Given the description of an element on the screen output the (x, y) to click on. 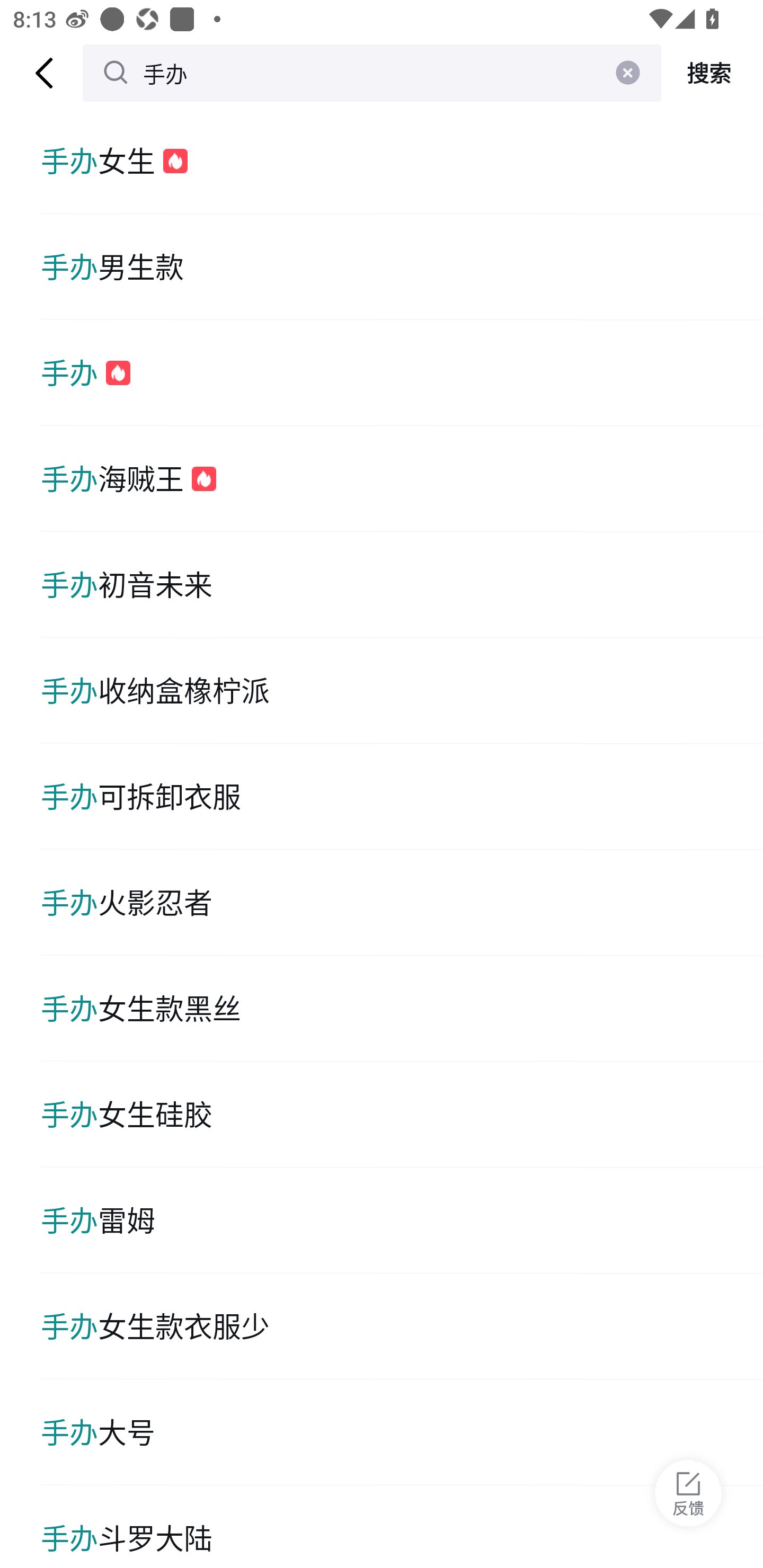
搜索 (712, 72)
手办 (371, 72)
手办女生 (401, 160)
手办男生款 (401, 266)
手办 (401, 372)
手办海贼王 (401, 478)
手办初音未来 (401, 584)
手办收纳盒橡柠派 (401, 690)
手办可拆卸衣服 (401, 796)
手办火影忍者 (401, 901)
手办女生款黑丝 (401, 1007)
手办女生硅胶 (401, 1114)
手办雷姆 (401, 1220)
手办女生款衣服少 (401, 1326)
手办大号 (401, 1431)
手办斗罗大陆 (401, 1526)
